Given the description of an element on the screen output the (x, y) to click on. 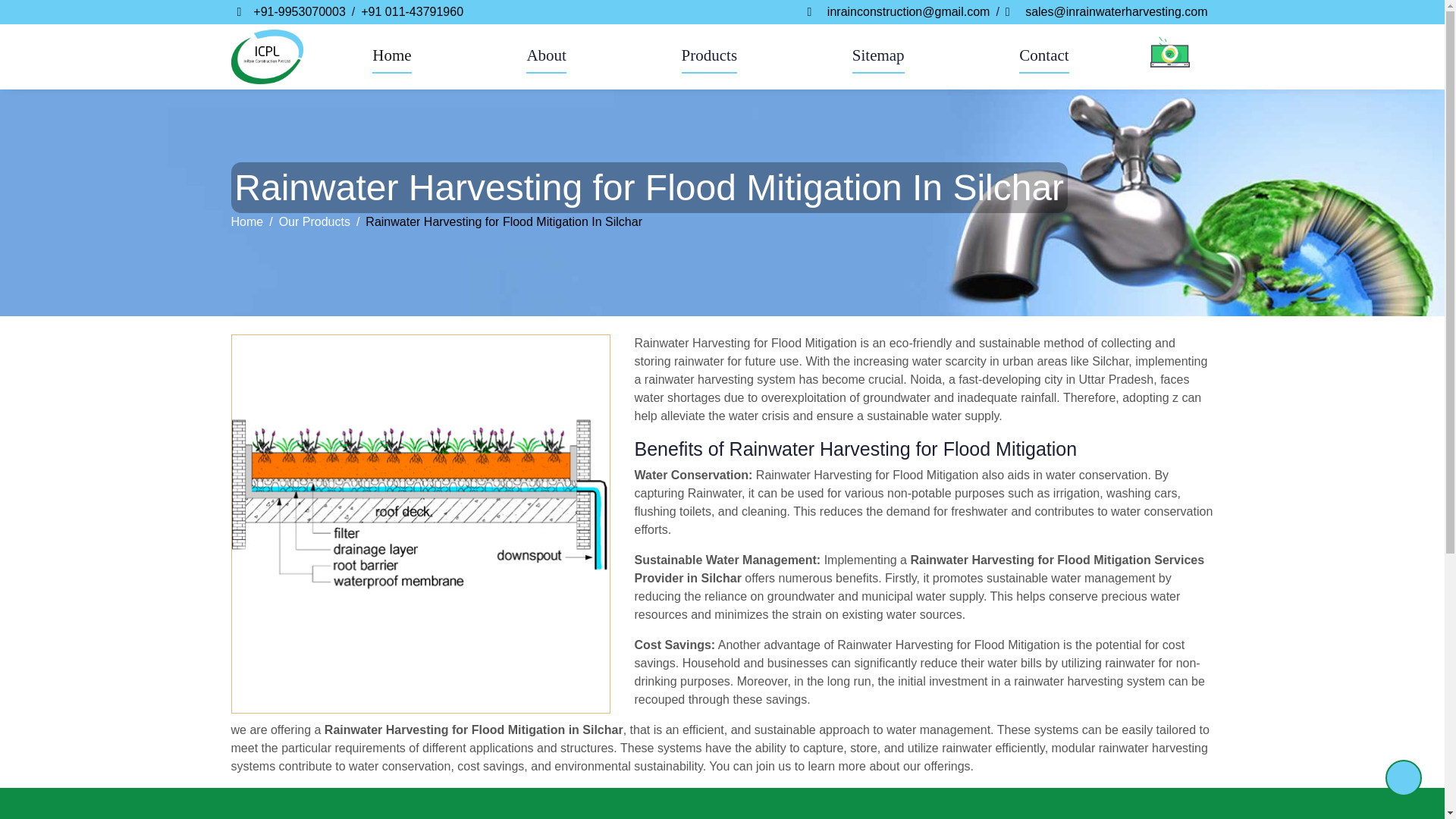
About (545, 56)
Home (391, 56)
Home (266, 56)
Products (709, 56)
